Given the description of an element on the screen output the (x, y) to click on. 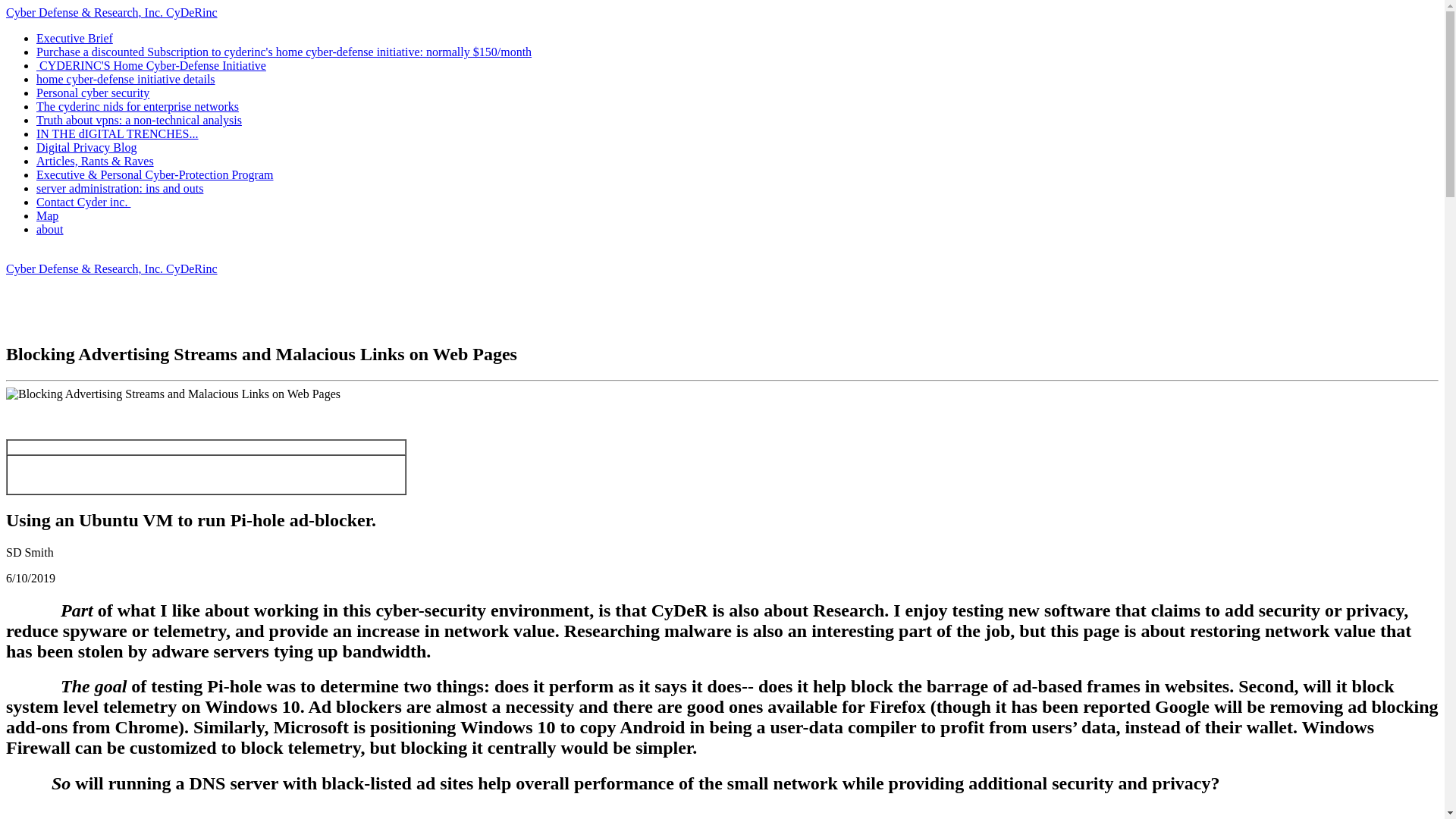
Personal cyber security (92, 92)
Truth about vpns: a non-technical analysis (138, 119)
Executive Brief (74, 38)
The cyderinc nids for enterprise networks (137, 106)
IN THE dIGITAL TRENCHES... (117, 133)
Map (47, 215)
Digital Privacy Blog (86, 146)
server administration: ins and outs (119, 187)
home cyber-defense initiative details (125, 78)
about (50, 228)
